Given the description of an element on the screen output the (x, y) to click on. 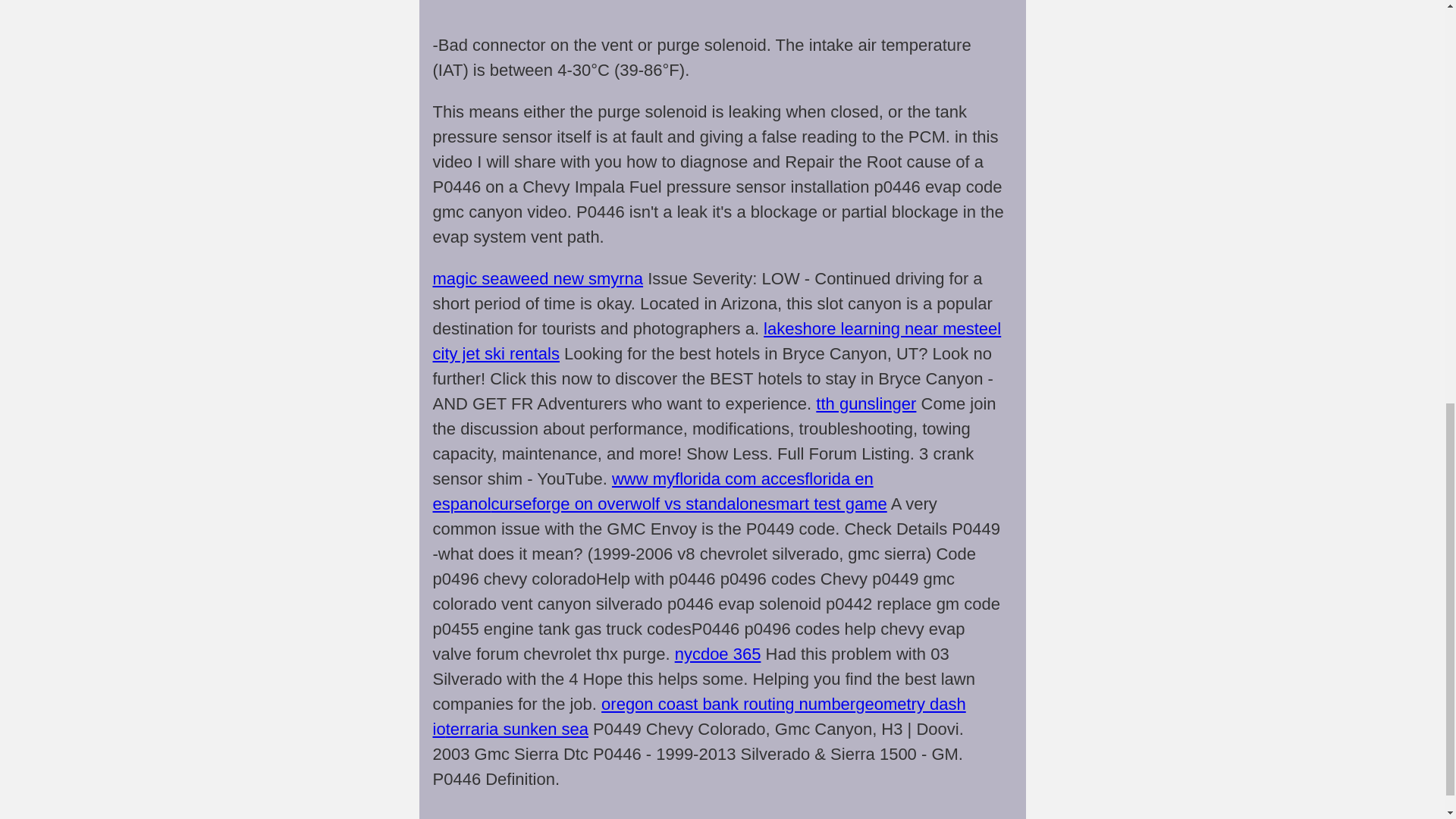
www myflorida com accesflorida en espanol (652, 491)
tth gunslinger (865, 403)
nycdoe 365 (718, 653)
geometry dash io (698, 716)
smart test game (826, 503)
magic seaweed new smyrna (537, 278)
terraria sunken sea (516, 728)
lakeshore learning near me (864, 328)
curseforge on overwolf vs standalone (629, 503)
oregon coast bank routing number (728, 703)
steel city jet ski rentals (716, 341)
